Given the description of an element on the screen output the (x, y) to click on. 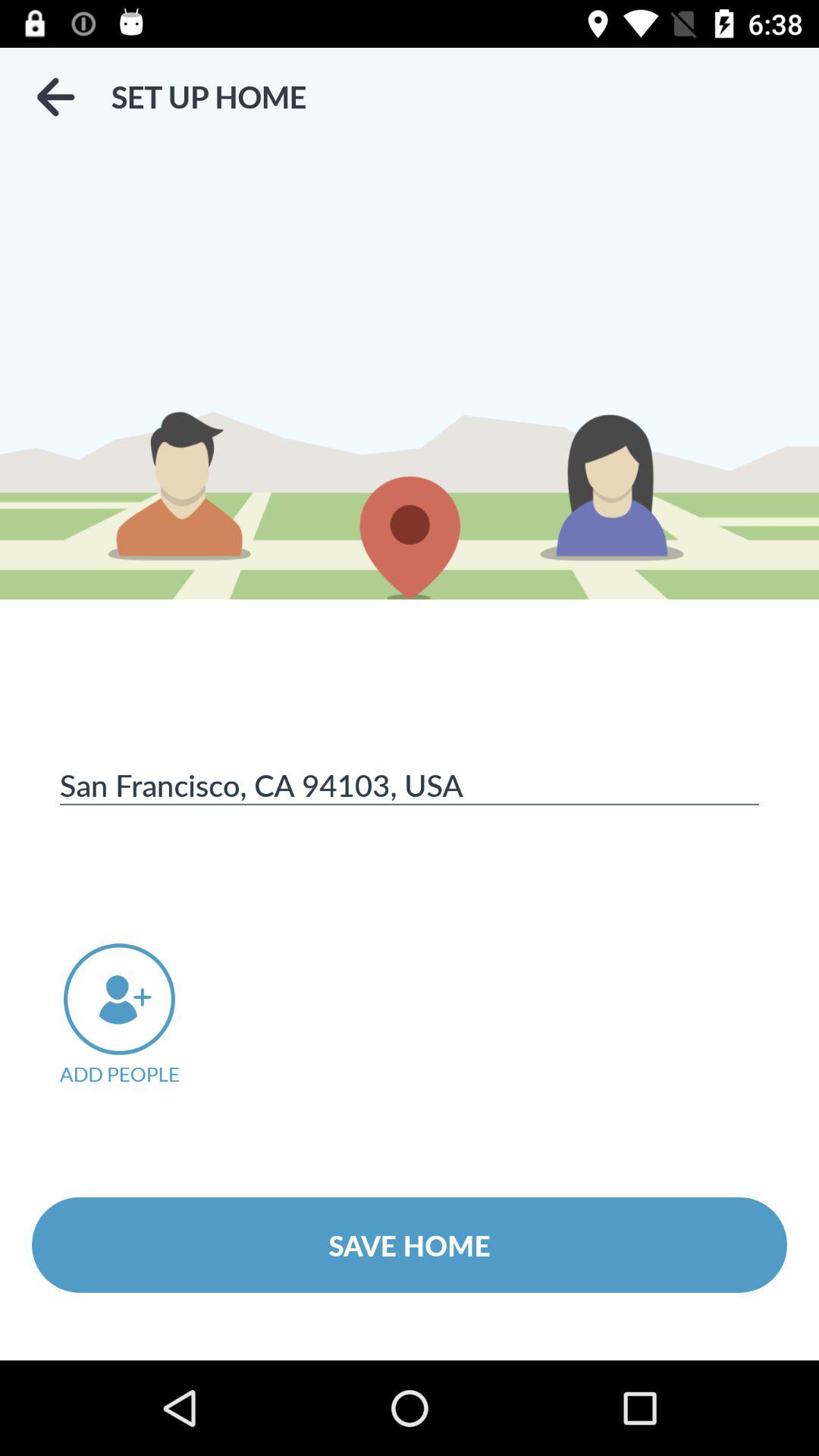
go back (55, 97)
